Given the description of an element on the screen output the (x, y) to click on. 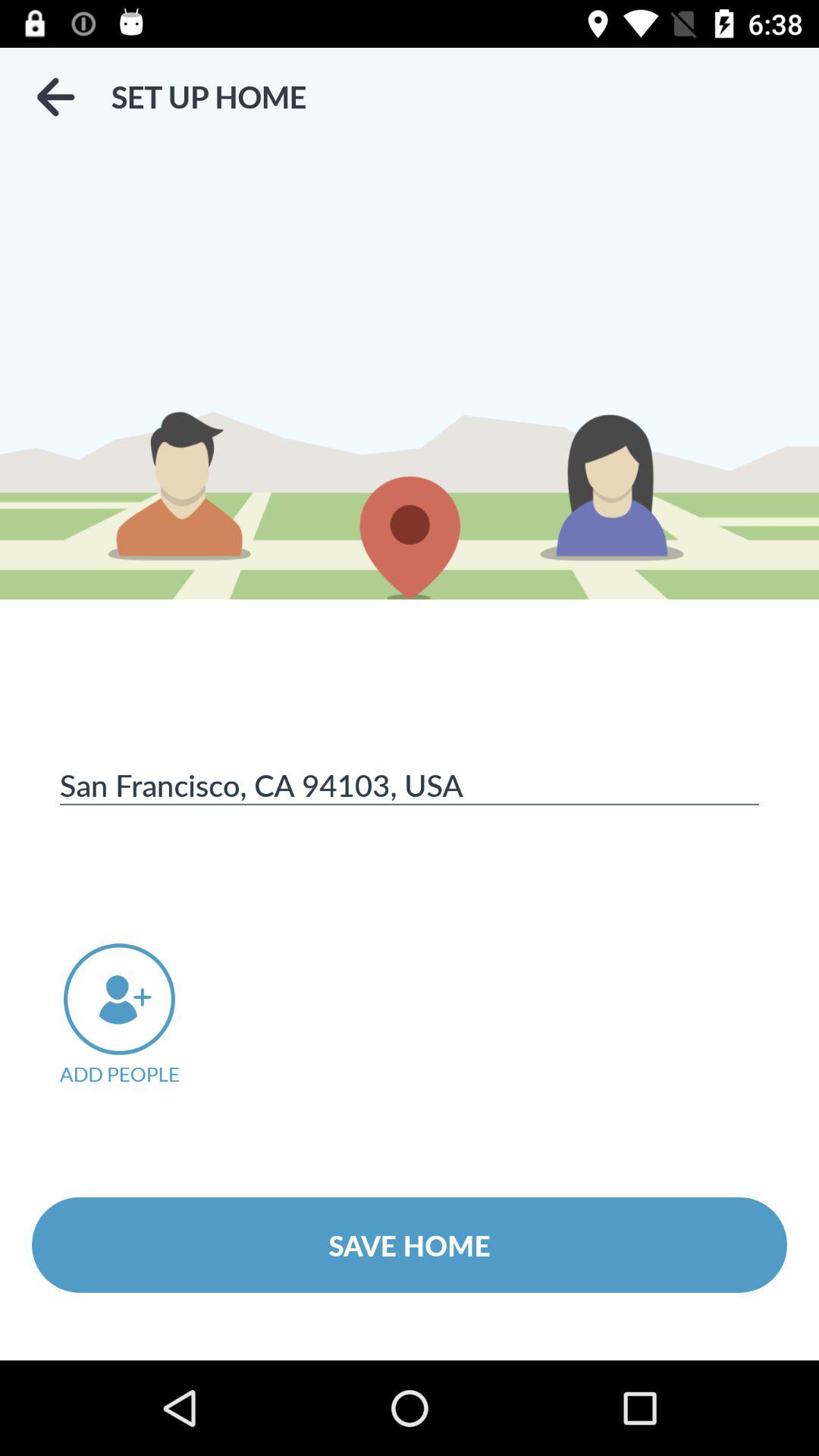
go back (55, 97)
